Given the description of an element on the screen output the (x, y) to click on. 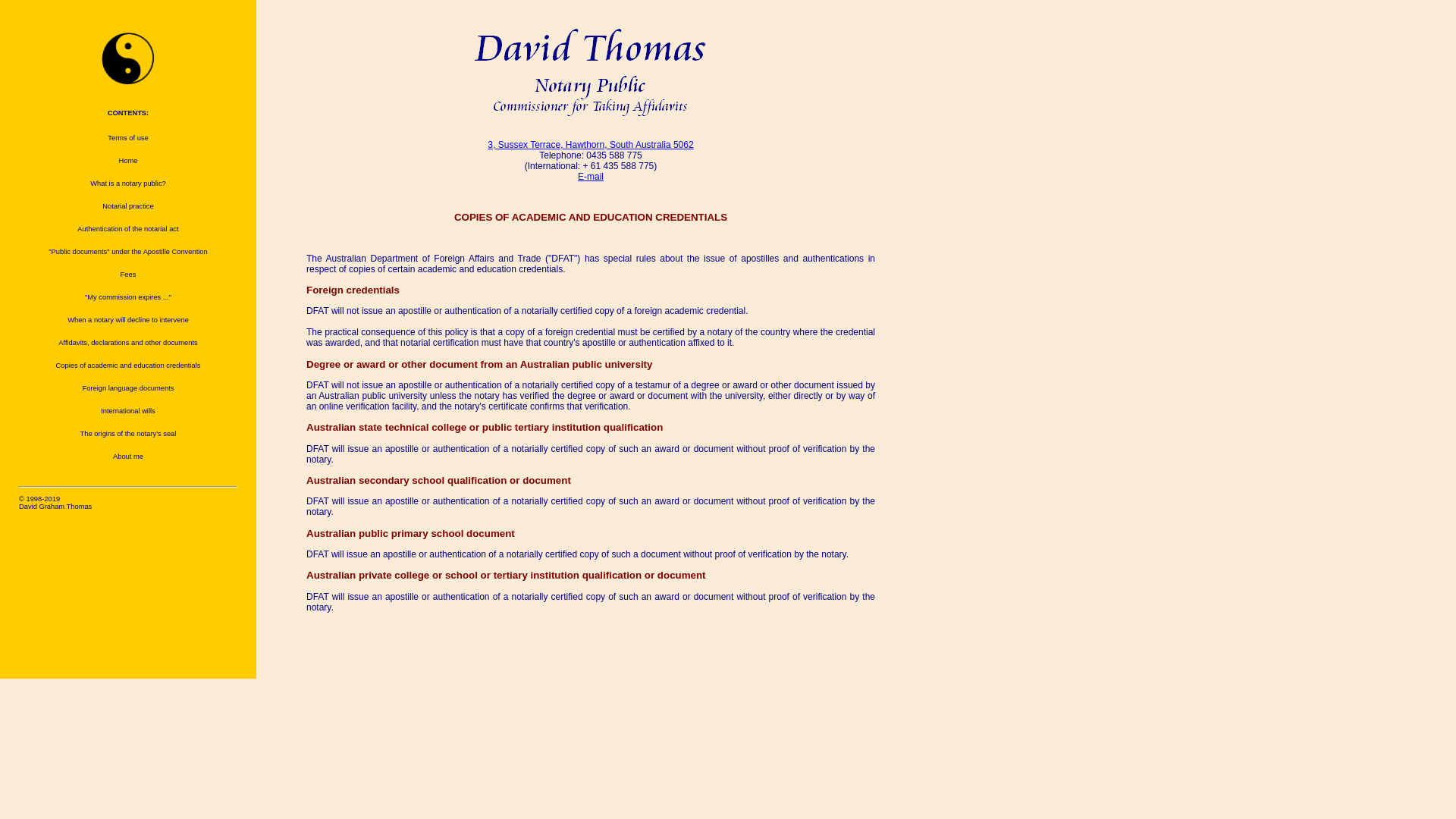
Notarial practice Element type: text (127, 205)
Fees Element type: text (127, 274)
"My commission expires ..." Element type: text (127, 296)
Copies of academic and education credentials Element type: text (127, 365)
Affidavits, declarations and other documents Element type: text (127, 342)
Foreign language documents Element type: text (127, 387)
About me Element type: text (127, 456)
The origins of the notary's seal Element type: text (127, 433)
International wills Element type: text (127, 410)
3, Sussex Terrace, Hawthorn, South Australia 5062 Element type: text (590, 144)
When a notary will decline to intervene Element type: text (127, 319)
What is a notary public? Element type: text (127, 183)
"Public documents" under the Apostille Convention Element type: text (127, 251)
E-mail Element type: text (590, 176)
Authentication of the notarial act Element type: text (127, 228)
Terms of use Element type: text (127, 137)
Home Element type: text (127, 160)
